Given the description of an element on the screen output the (x, y) to click on. 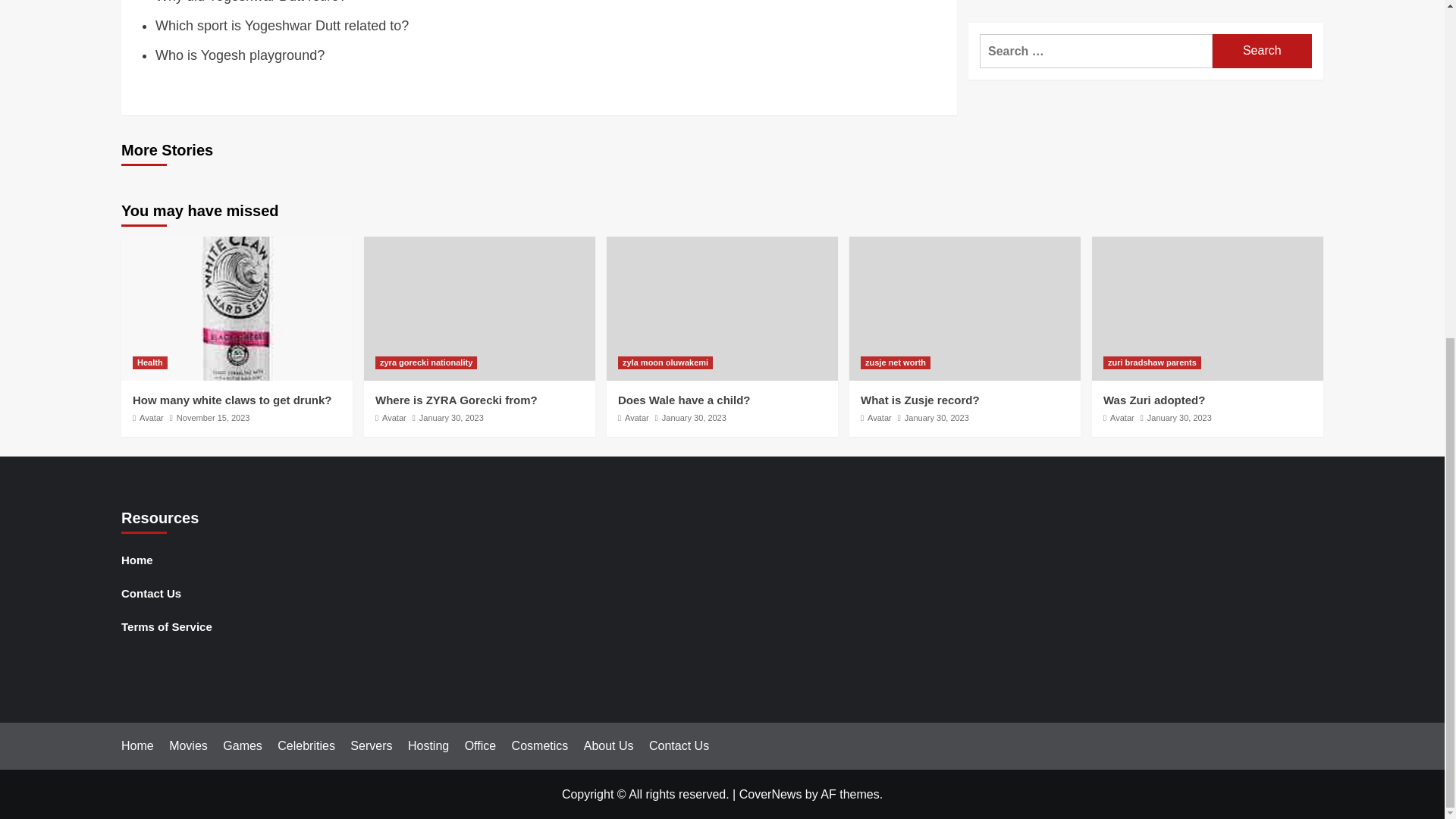
January 30, 2023 (694, 417)
Avatar (636, 417)
January 30, 2023 (451, 417)
Why did Yogeshwar Dutt retire? (250, 2)
Health (149, 362)
Avatar (151, 417)
zyra gorecki nationality (426, 362)
zyla moon oluwakemi (665, 362)
Where is ZYRA Gorecki from? (456, 399)
Which sport is Yogeshwar Dutt related to? (282, 25)
Who is Yogesh playground? (239, 55)
How many white claws to get drunk? (231, 399)
November 15, 2023 (213, 417)
Avatar (393, 417)
Does Wale have a child? (684, 399)
